Given the description of an element on the screen output the (x, y) to click on. 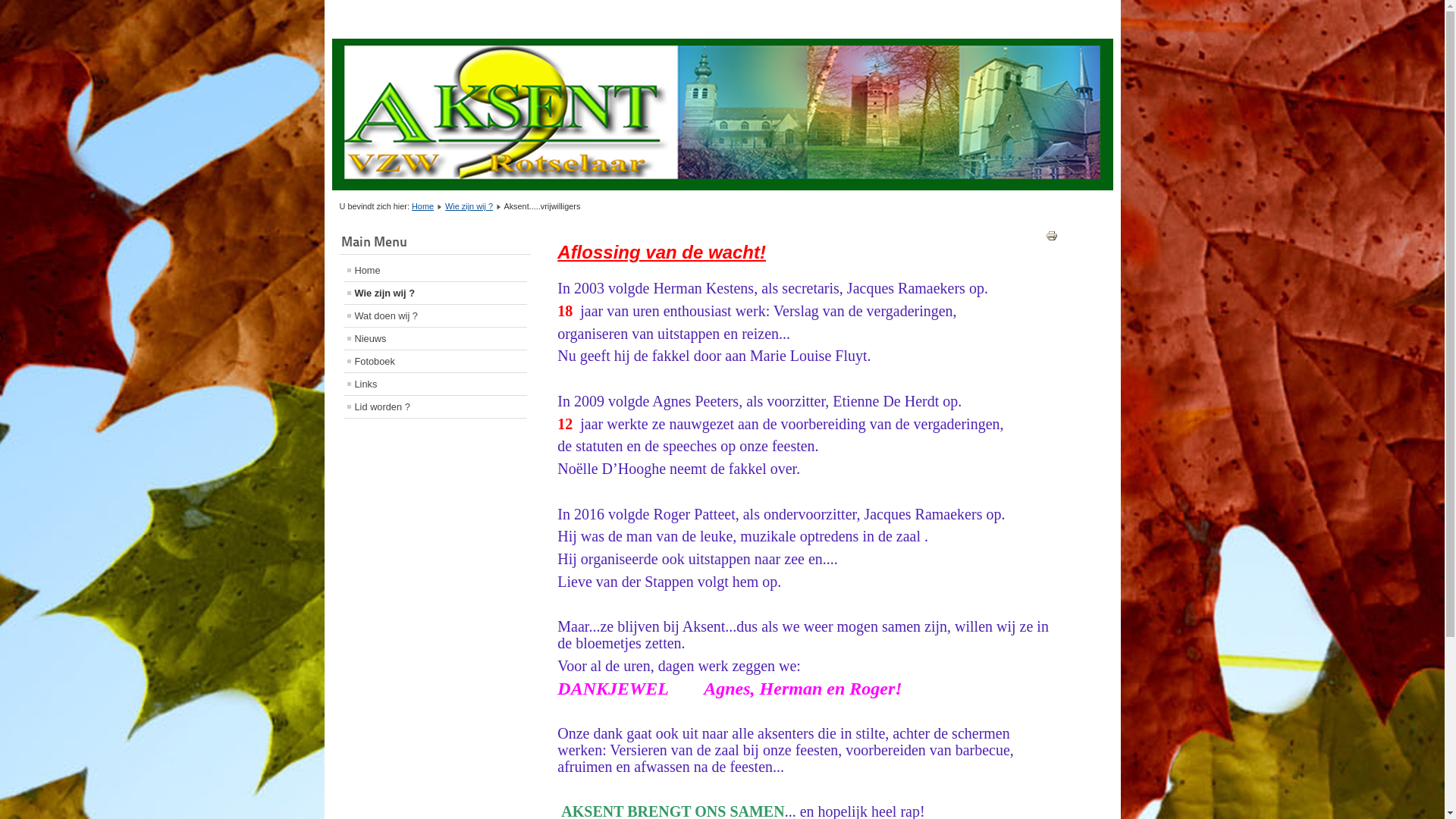
Links Element type: text (434, 384)
Afdrukken Element type: hover (1051, 238)
Home Element type: text (434, 270)
Wie zijn wij ? Element type: text (434, 293)
Wie zijn wij ? Element type: text (468, 205)
Home Element type: text (422, 205)
Fotoboek Element type: text (434, 361)
Lid worden ? Element type: text (434, 406)
Nieuws Element type: text (434, 338)
Wat doen wij ? Element type: text (434, 315)
